Given the description of an element on the screen output the (x, y) to click on. 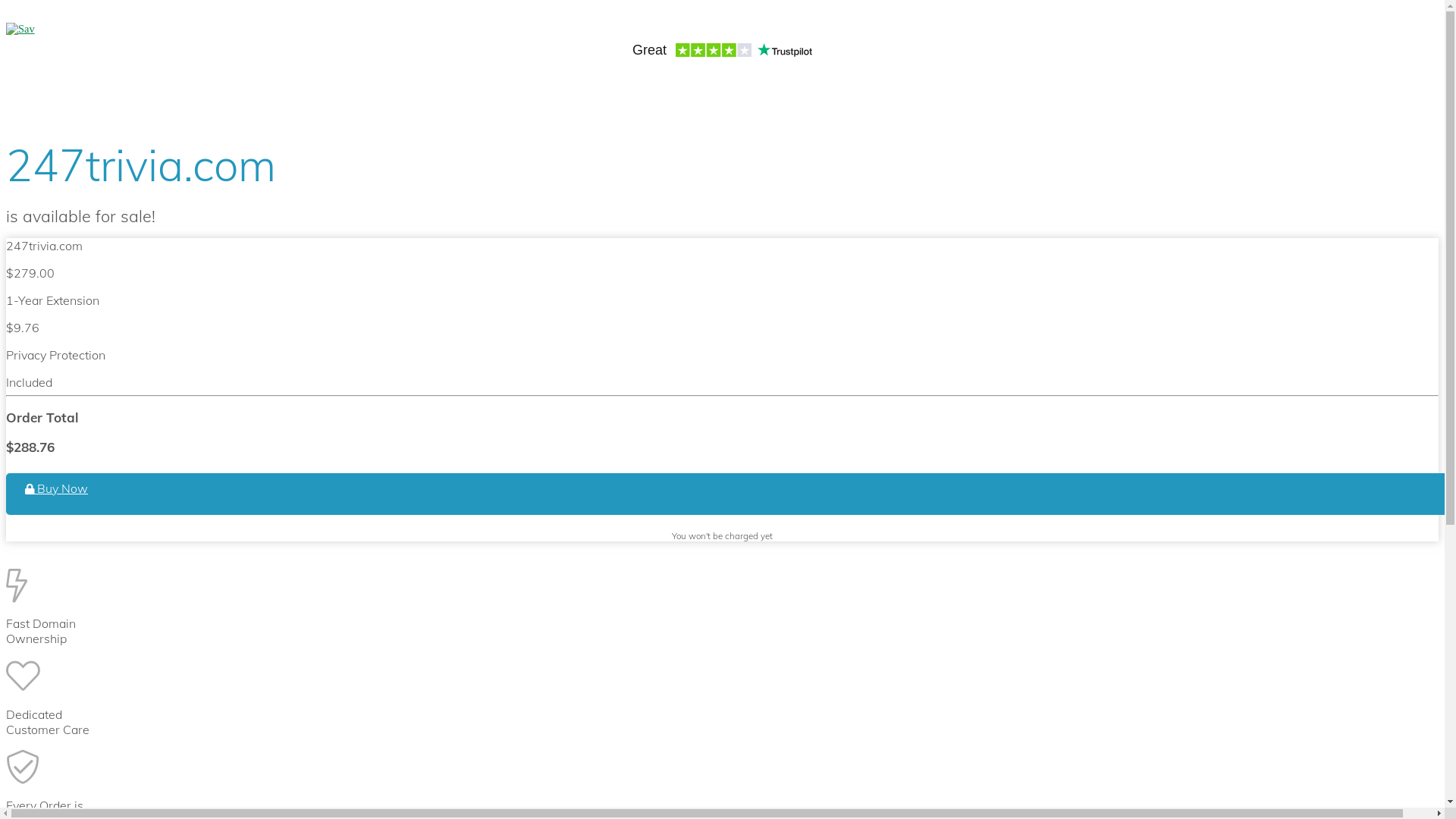
Customer reviews powered by Trustpilot Element type: hover (722, 52)
